Given the description of an element on the screen output the (x, y) to click on. 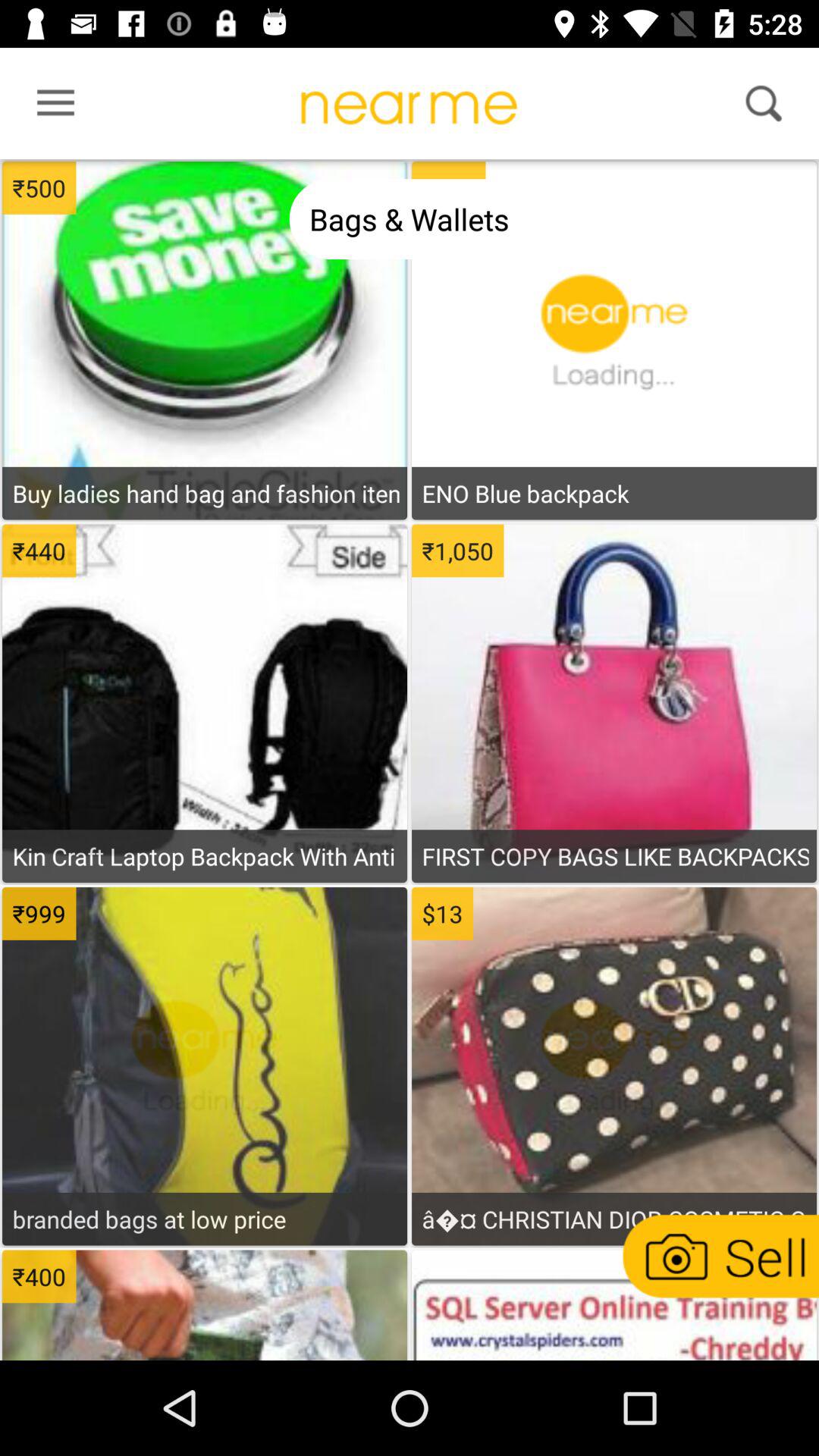
open the menu bar (50, 107)
